Given the description of an element on the screen output the (x, y) to click on. 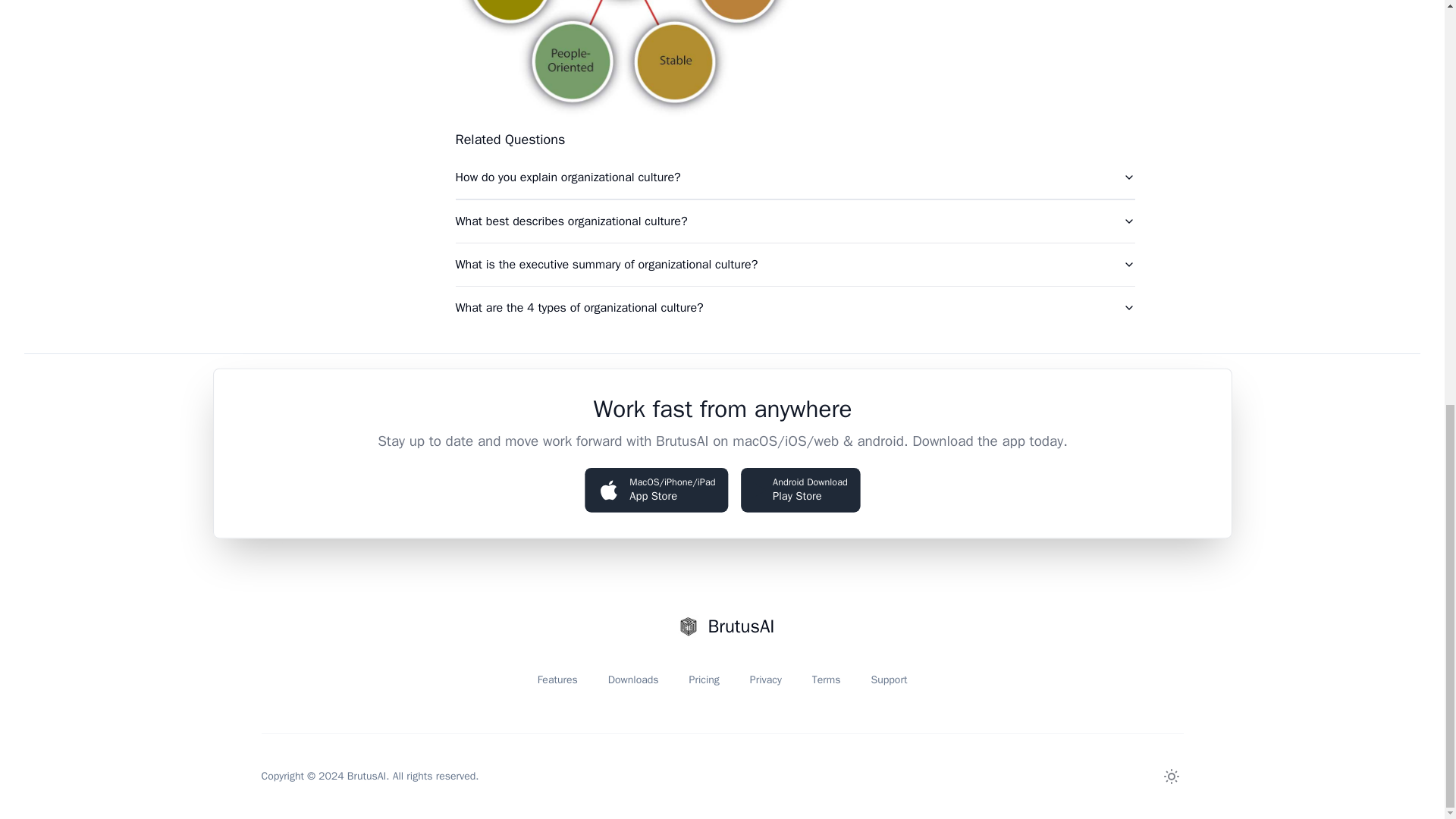
Terms (826, 679)
Downloads (633, 679)
What are the 4 types of organizational culture? (794, 307)
Toggle theme (797, 488)
Pricing (1170, 776)
Privacy (703, 679)
Support (765, 679)
What is the executive summary of organizational culture? (889, 679)
How do you explain organizational culture? (794, 264)
Features (794, 177)
What best describes organizational culture? (557, 679)
